Given the description of an element on the screen output the (x, y) to click on. 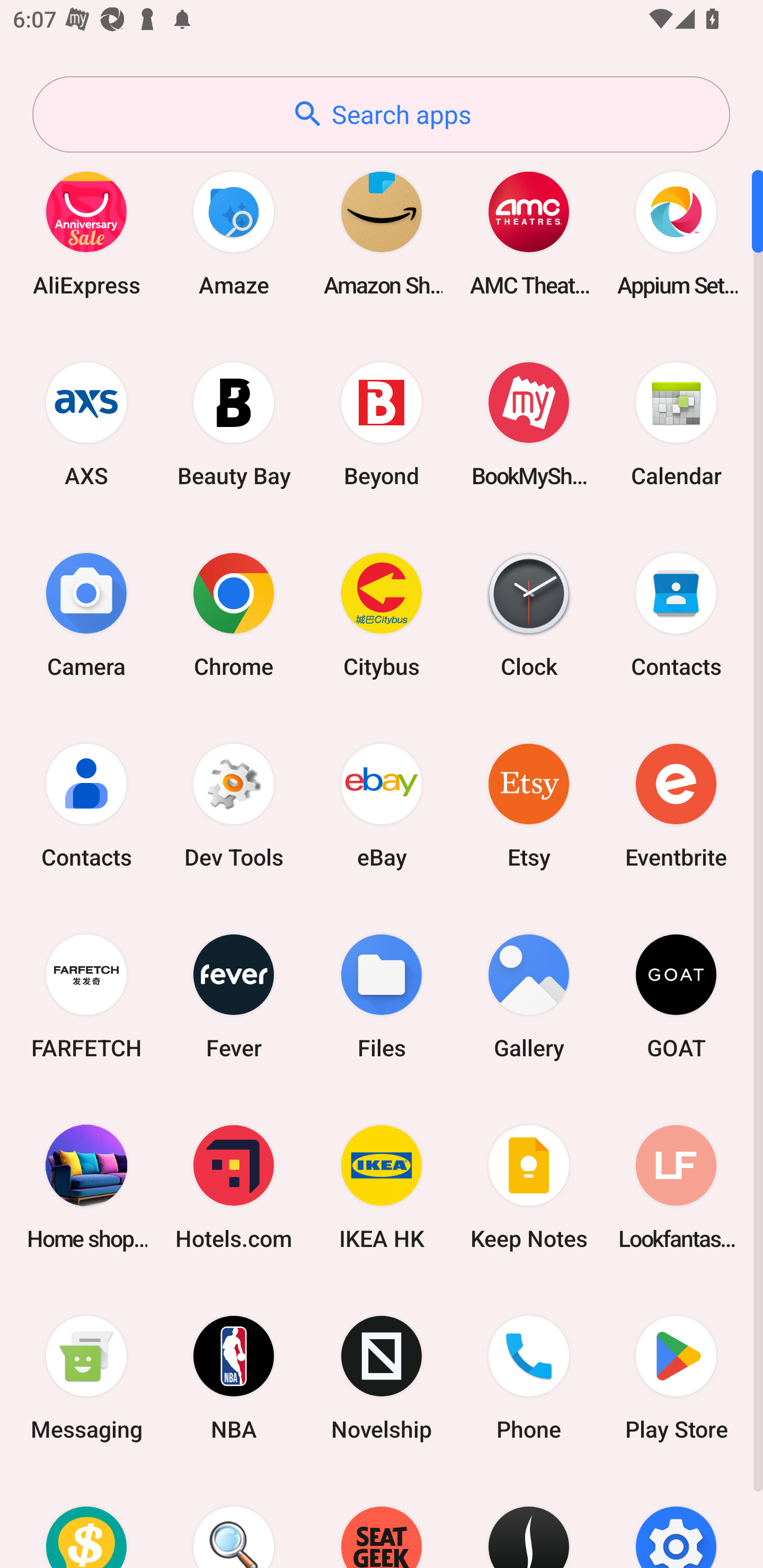
  Search apps (381, 114)
AliExpress (86, 233)
Amaze (233, 233)
Amazon Shopping (381, 233)
AMC Theatres (528, 233)
Appium Settings (676, 233)
AXS (86, 424)
Beauty Bay (233, 424)
Beyond (381, 424)
BookMyShow (528, 424)
Calendar (676, 424)
Camera (86, 614)
Chrome (233, 614)
Citybus (381, 614)
Clock (528, 614)
Contacts (676, 614)
Contacts (86, 805)
Dev Tools (233, 805)
eBay (381, 805)
Etsy (528, 805)
Eventbrite (676, 805)
FARFETCH (86, 996)
Fever (233, 996)
Files (381, 996)
Gallery (528, 996)
GOAT (676, 996)
Home shopping (86, 1186)
Hotels.com (233, 1186)
IKEA HK (381, 1186)
Keep Notes (528, 1186)
Lookfantastic (676, 1186)
Messaging (86, 1377)
NBA (233, 1377)
Novelship (381, 1377)
Phone (528, 1377)
Play Store (676, 1377)
